Given the description of an element on the screen output the (x, y) to click on. 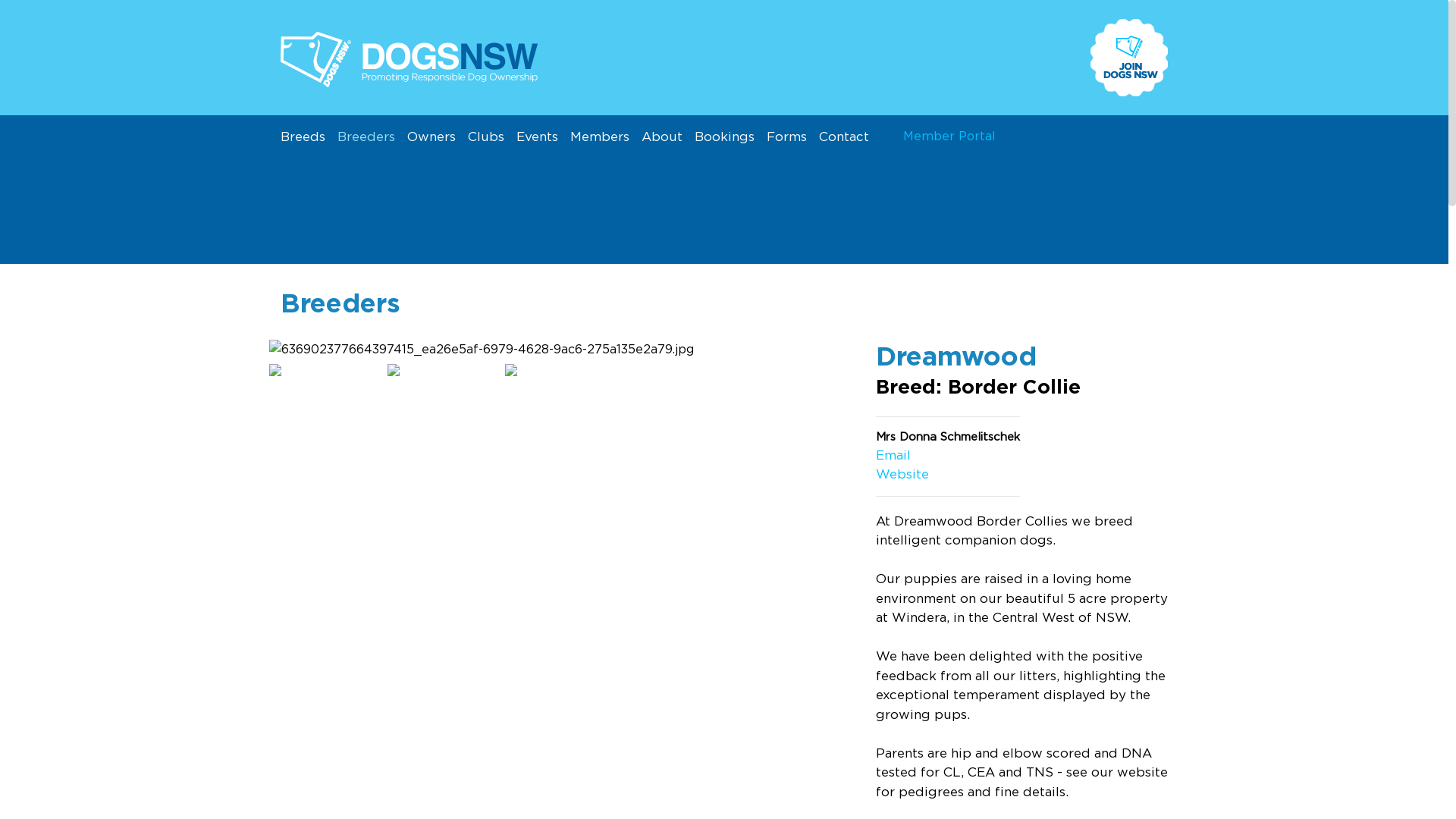
Email Element type: text (892, 454)
Clubs Element type: text (491, 137)
Members Element type: text (605, 137)
Bookings Element type: text (730, 137)
Events Element type: text (543, 137)
Breeders Element type: text (372, 137)
Forms Element type: text (792, 137)
Contact Element type: text (850, 137)
About Element type: text (667, 137)
Owners Element type: text (437, 137)
Website Element type: text (901, 473)
Member Portal Element type: text (949, 135)
Breeds Element type: text (308, 137)
